Given the description of an element on the screen output the (x, y) to click on. 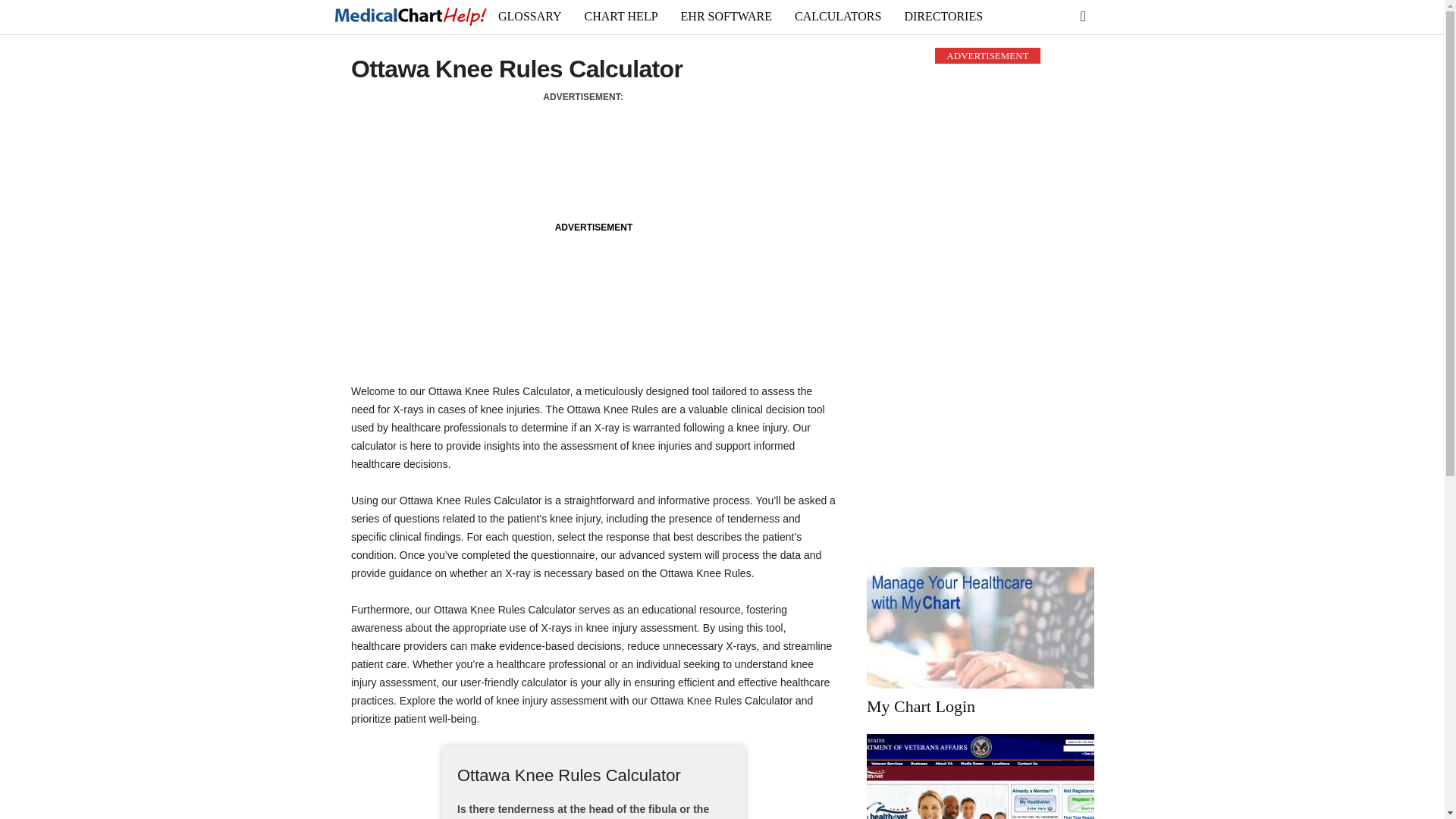
GLOSSARY (529, 16)
Advertisement (591, 155)
CALCULATORS (837, 16)
Medical Chart Help (410, 16)
DIRECTORIES (943, 16)
My Chart Login (920, 705)
My Chart Login (980, 627)
MyHealtheVet Login (980, 776)
Advertisement (592, 302)
My Chart Login (920, 705)
EHR SOFTWARE (726, 16)
CHART HELP (621, 16)
